Given the description of an element on the screen output the (x, y) to click on. 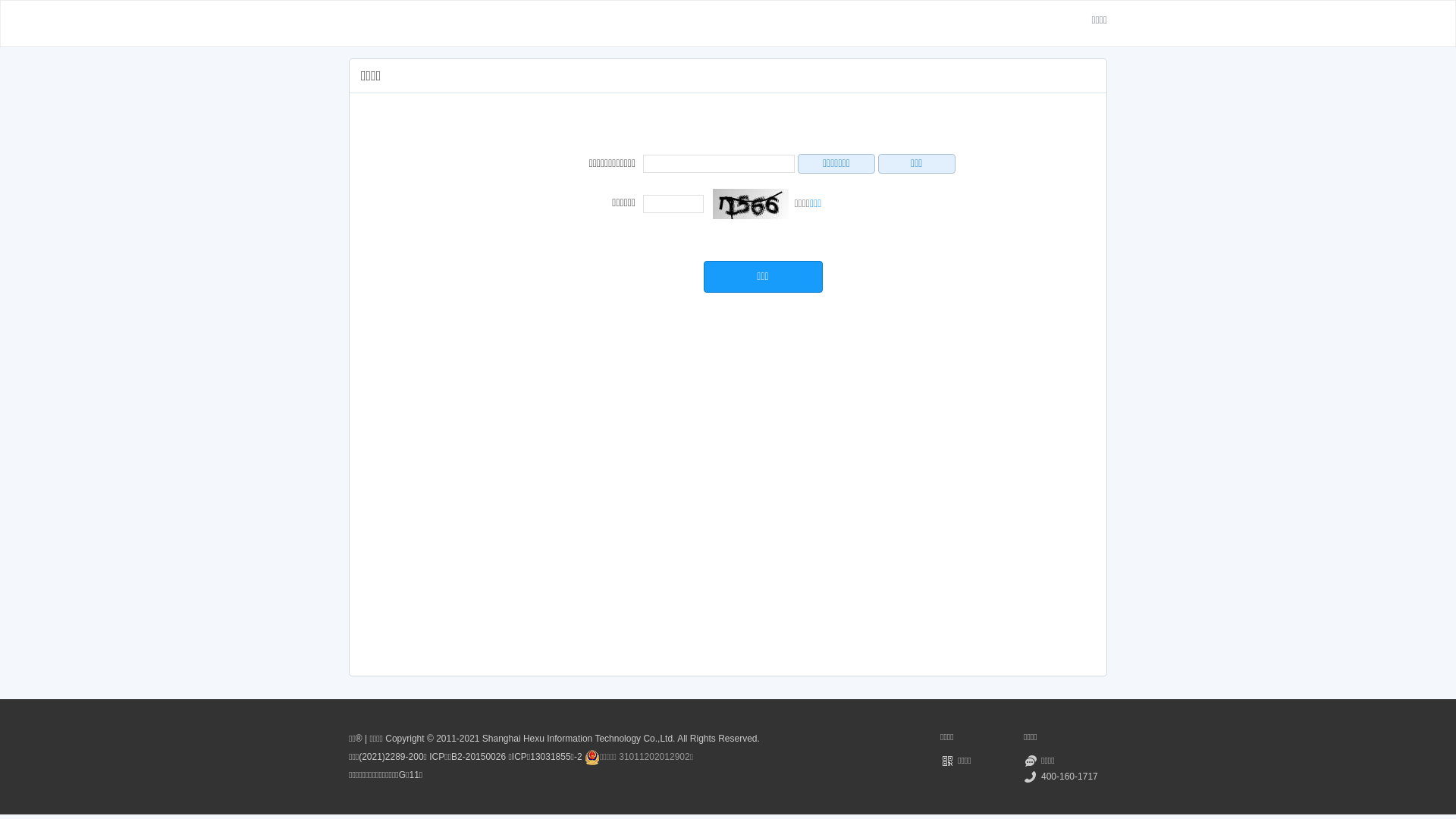
400-160-1717 Element type: text (1065, 776)
